Given the description of an element on the screen output the (x, y) to click on. 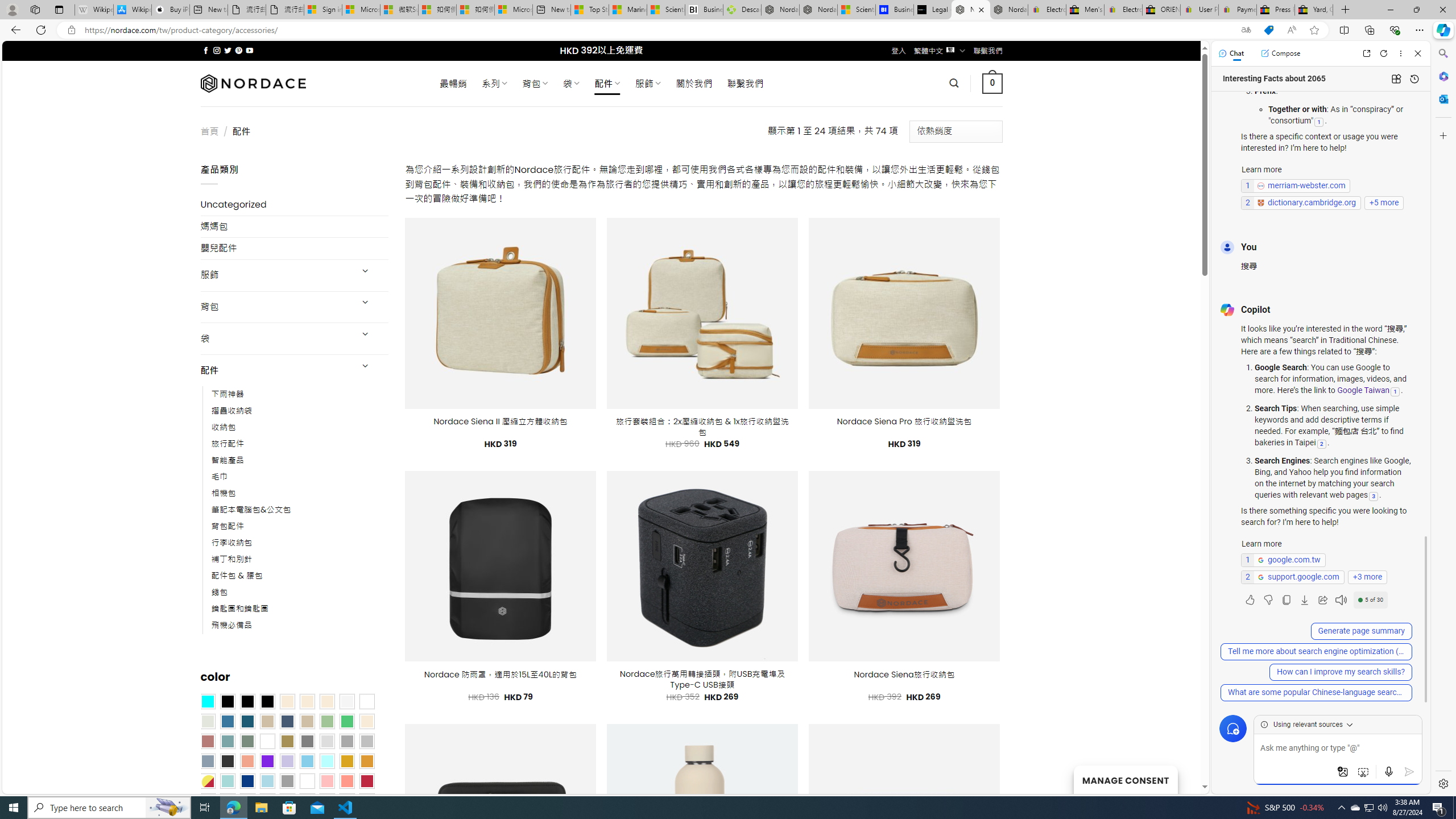
Nordace - Summer Adventures 2024 (780, 9)
